Given the description of an element on the screen output the (x, y) to click on. 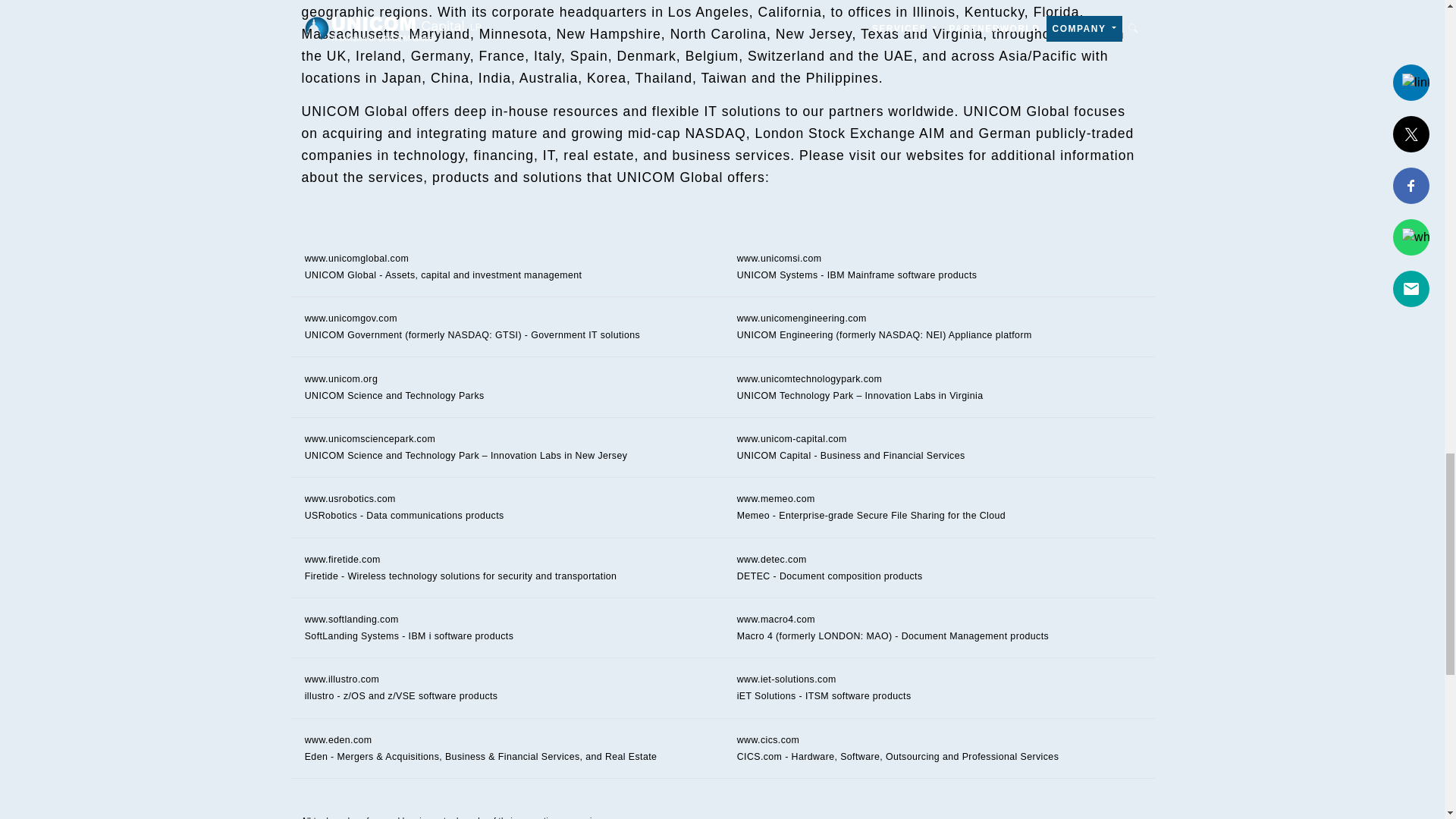
www.unicomsi.com (779, 258)
www.firetide.com (342, 559)
www.softlanding.com (351, 619)
www.unicomtechnologypark.com (809, 378)
www.unicomsciencepark.com (369, 439)
www.detec.com (771, 559)
www.unicom.org (341, 378)
www.eden.com (338, 739)
www.iet-solutions.com (785, 679)
www.illustro.com (342, 679)
